Given the description of an element on the screen output the (x, y) to click on. 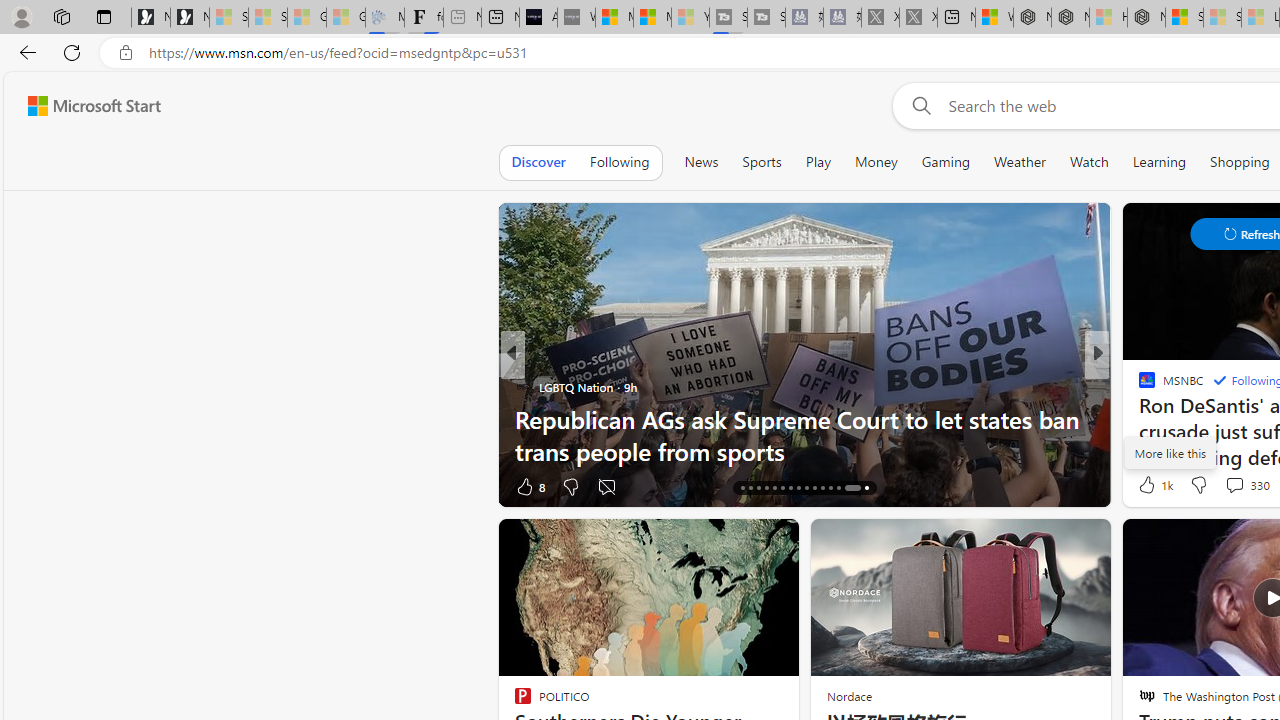
View comments 152 Comment (11, 485)
View comments 330 Comment (1246, 484)
AutomationID: tab-28 (838, 487)
AutomationID: tab-19 (765, 487)
AutomationID: tab-18 (757, 487)
AutomationID: tab-16 (742, 487)
